Given the description of an element on the screen output the (x, y) to click on. 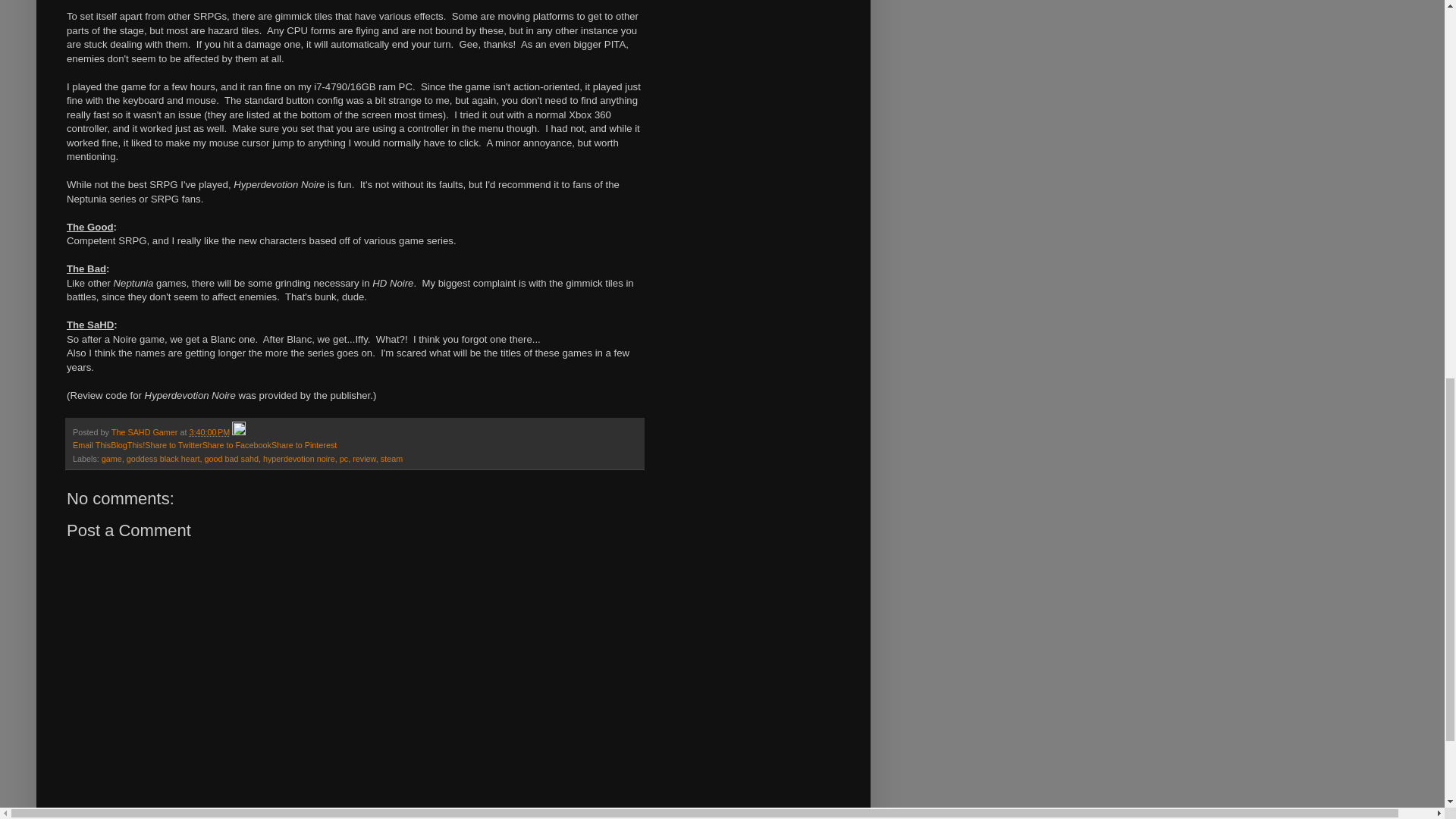
good bad sahd (230, 458)
steam (391, 458)
Share to Facebook (236, 444)
Share to Twitter (173, 444)
hyperdevotion noire (298, 458)
Share to Facebook (236, 444)
BlogThis! (127, 444)
Share to Pinterest (303, 444)
review (363, 458)
pc (343, 458)
Edit Post (238, 431)
BlogThis! (127, 444)
Share to Twitter (173, 444)
The SAHD Gamer (146, 431)
